Given the description of an element on the screen output the (x, y) to click on. 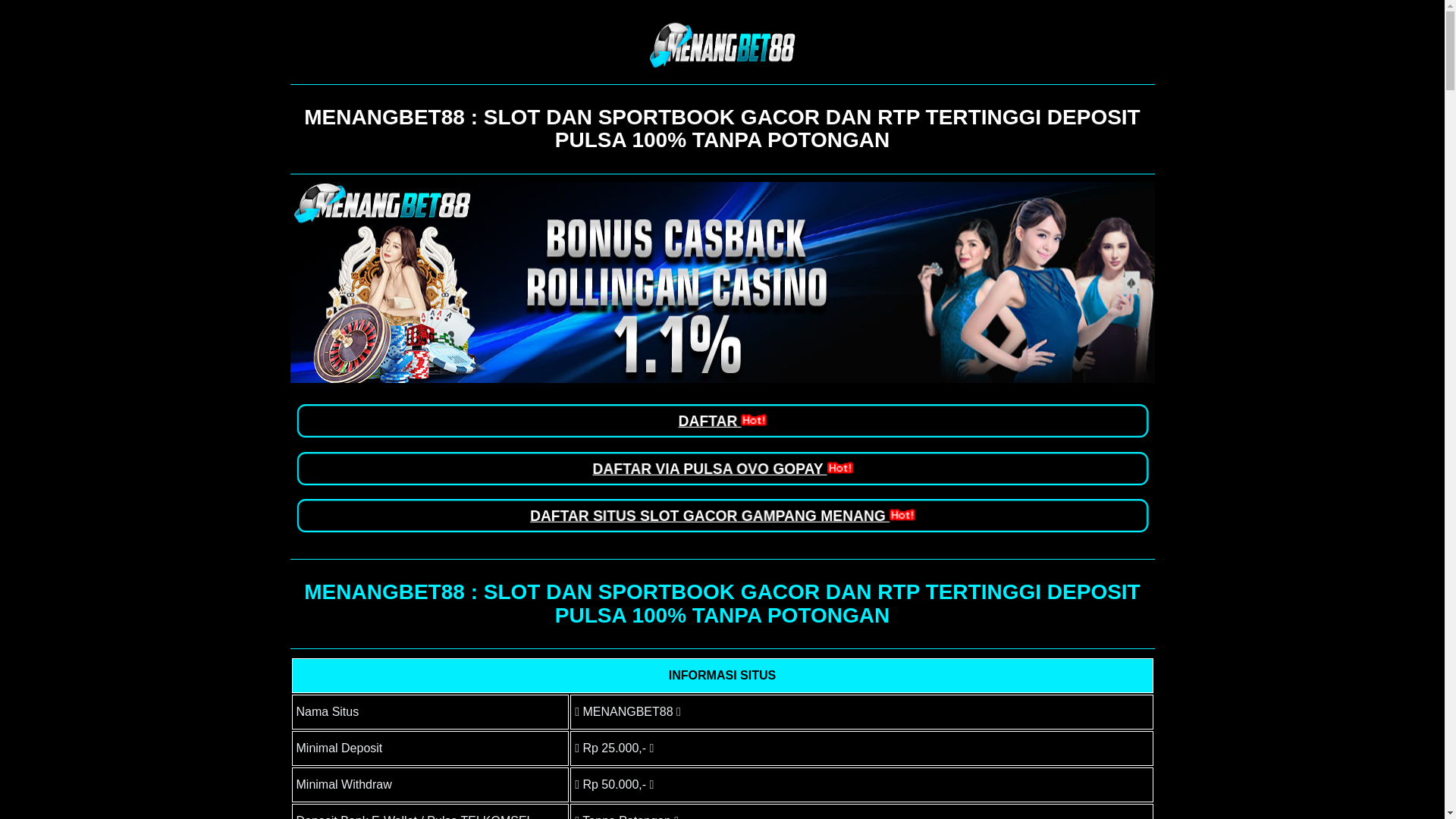
DAFTAR Element type: text (720, 420)
DAFTAR VIA PULSA OVO GOPAY Element type: text (716, 467)
DAFTAR SITUS SLOT GACOR GAMPANG MENANG Element type: text (713, 515)
SLOT88 SITUS SLOT GACOR Element type: hover (721, 282)
